Given the description of an element on the screen output the (x, y) to click on. 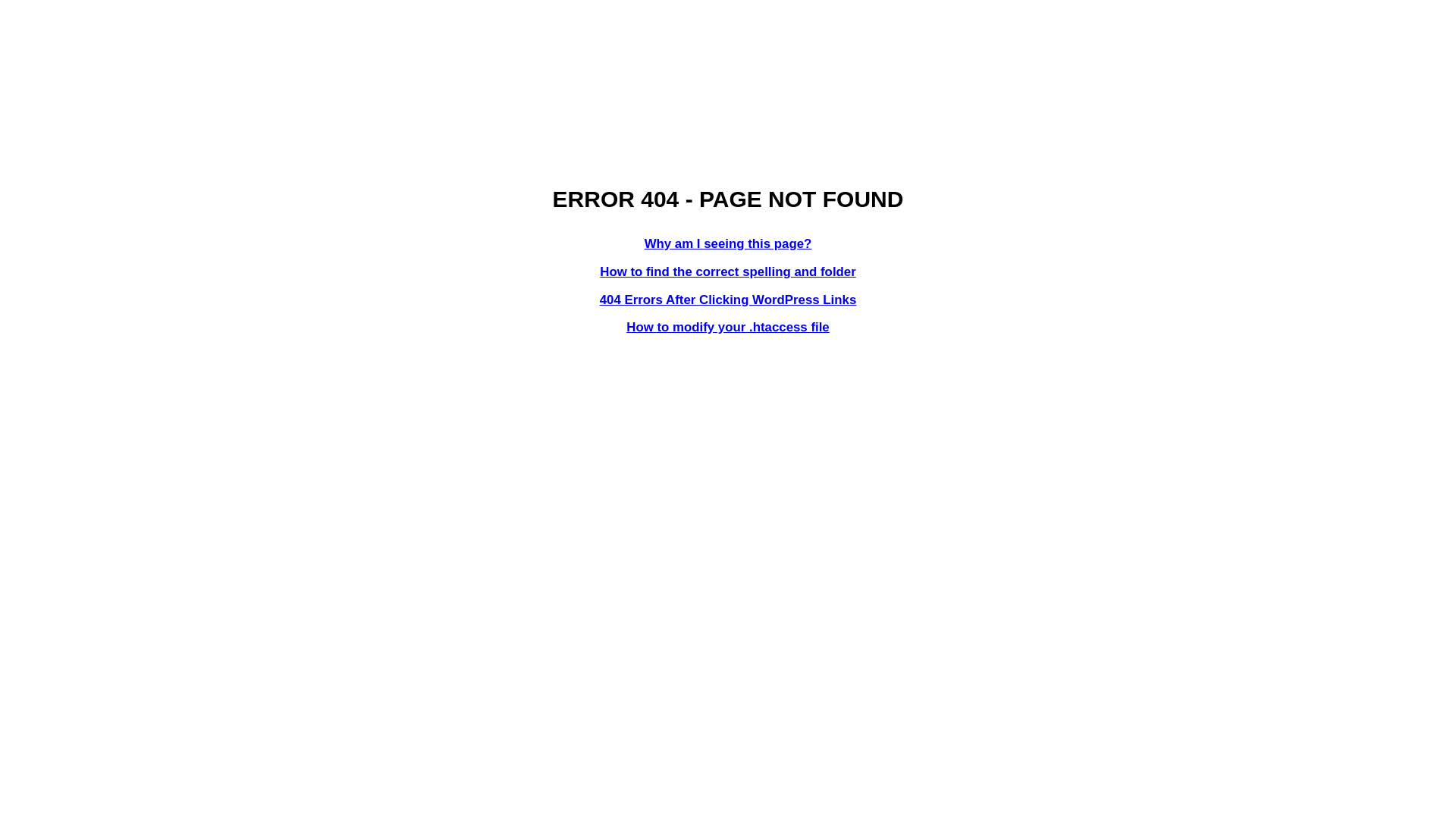
How to find the correct spelling and folder Element type: text (727, 271)
How to modify your .htaccess file Element type: text (727, 327)
Why am I seeing this page? Element type: text (728, 243)
404 Errors After Clicking WordPress Links Element type: text (727, 299)
